Given the description of an element on the screen output the (x, y) to click on. 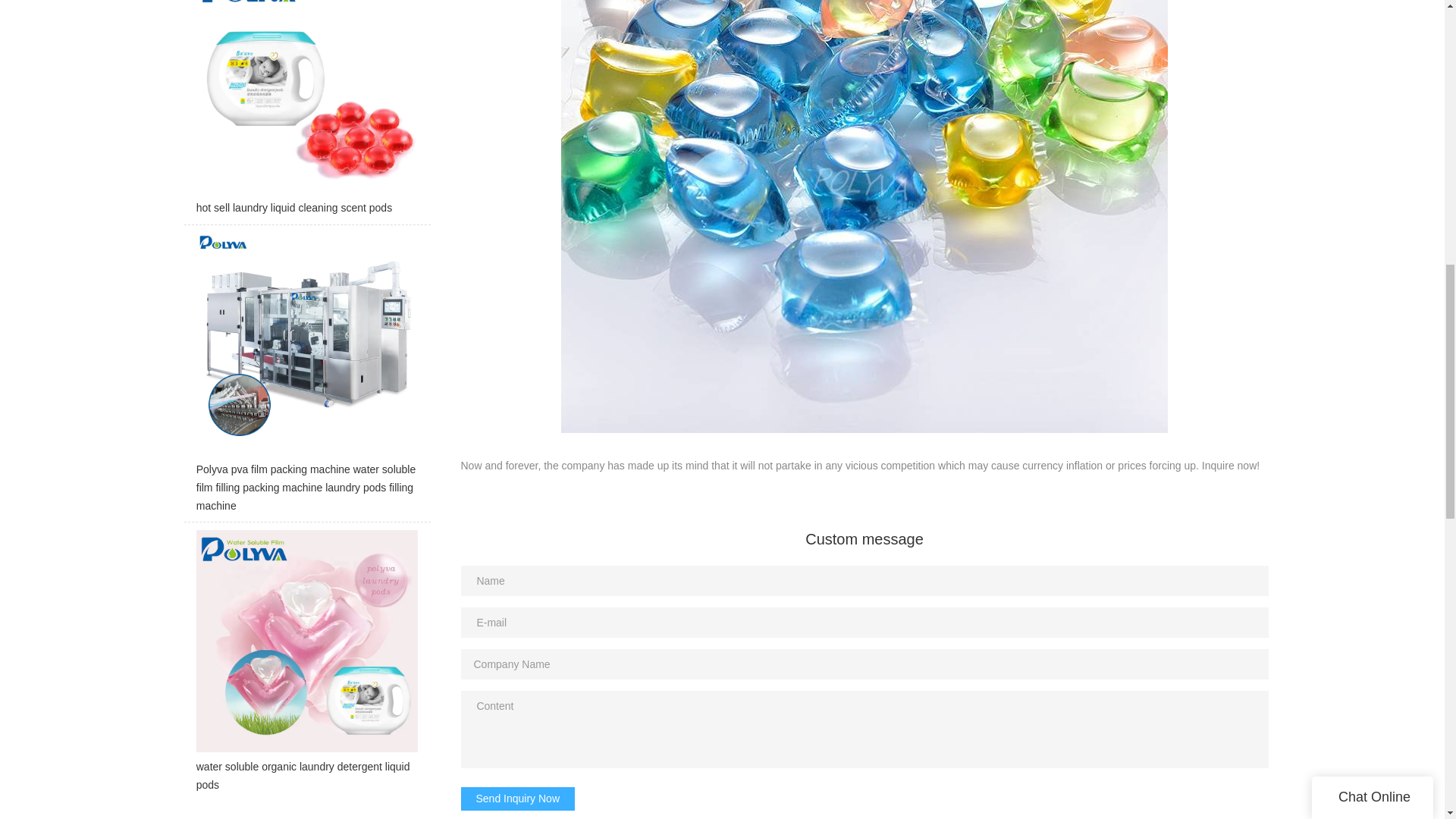
hot sell laundry liquid cleaning scent pods (306, 112)
Send Inquiry Now (518, 799)
water soluble organic laundry detergent liquid pods (306, 665)
